Given the description of an element on the screen output the (x, y) to click on. 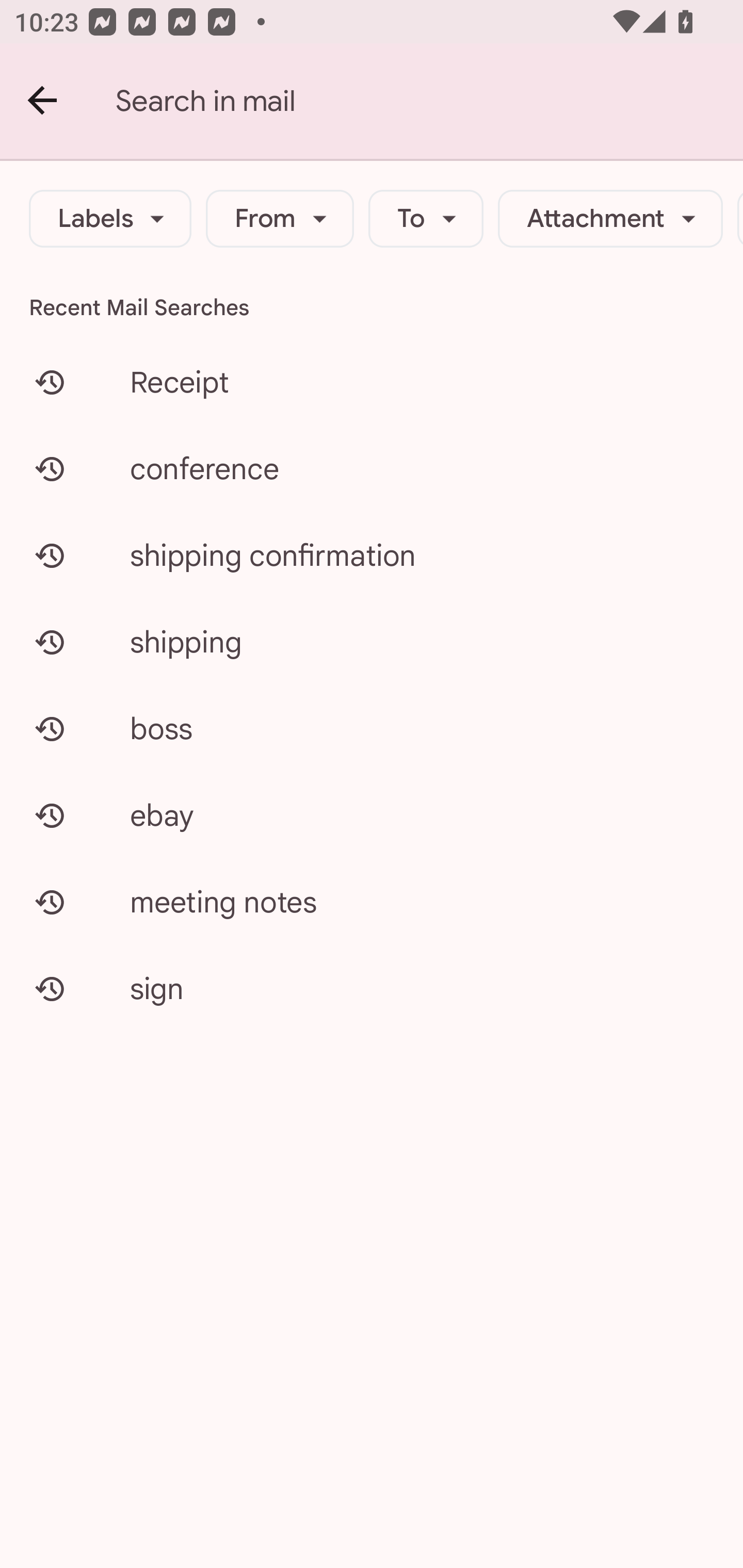
Back (43, 101)
Search in mail (429, 101)
Labels (109, 218)
From (279, 218)
To (425, 218)
Attachment (609, 218)
Recent Mail Searches (371, 306)
Receipt Suggestion: Receipt (371, 381)
conference Suggestion: conference (371, 468)
shipping Suggestion: shipping (371, 641)
boss Suggestion: boss (371, 728)
ebay Suggestion: ebay (371, 815)
meeting notes Suggestion: meeting notes (371, 902)
sign Suggestion: sign (371, 988)
